Given the description of an element on the screen output the (x, y) to click on. 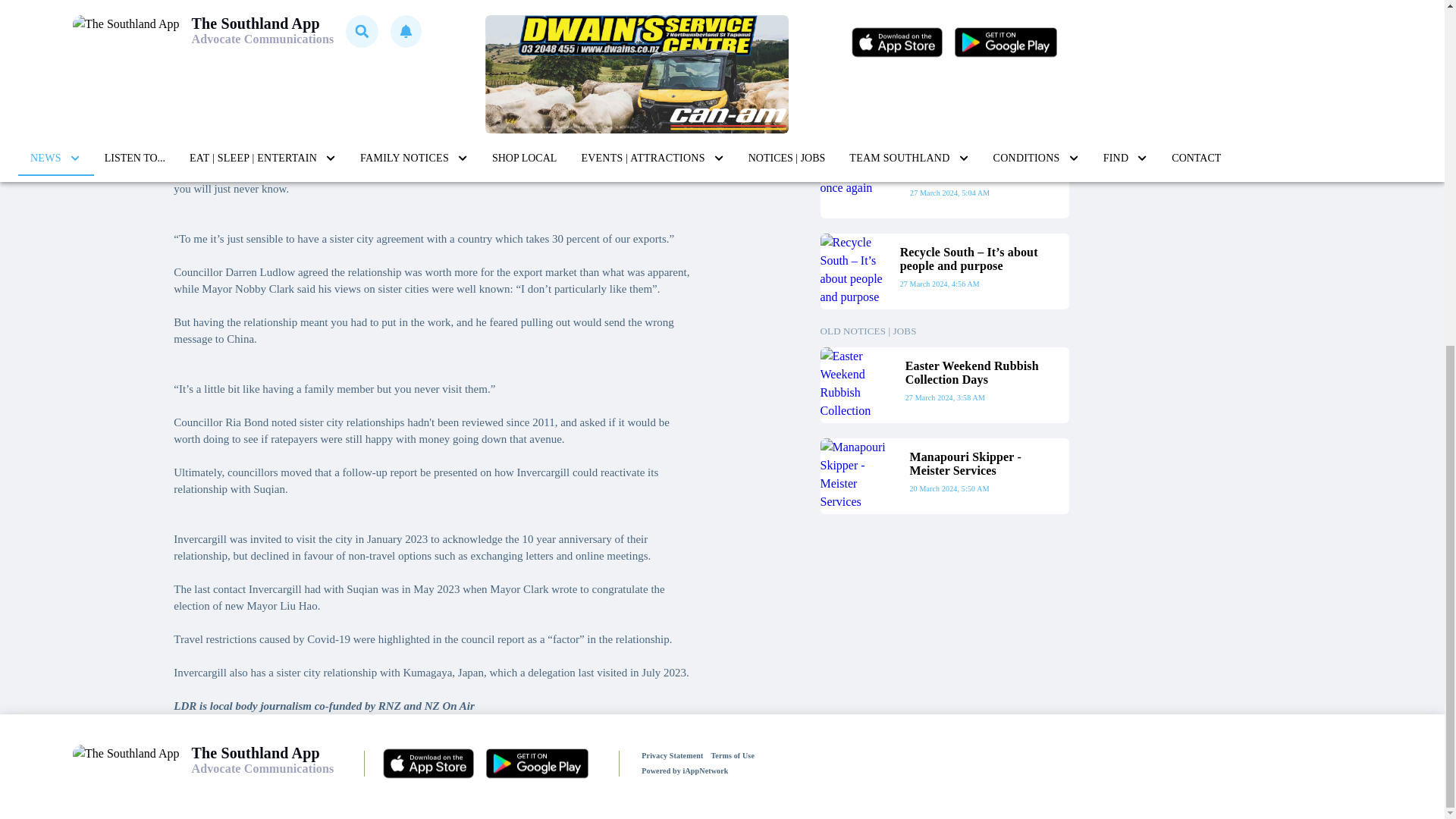
Privacy Statement (671, 755)
Terms of Use (732, 755)
Powered by iAppNetwork (945, 27)
